Given the description of an element on the screen output the (x, y) to click on. 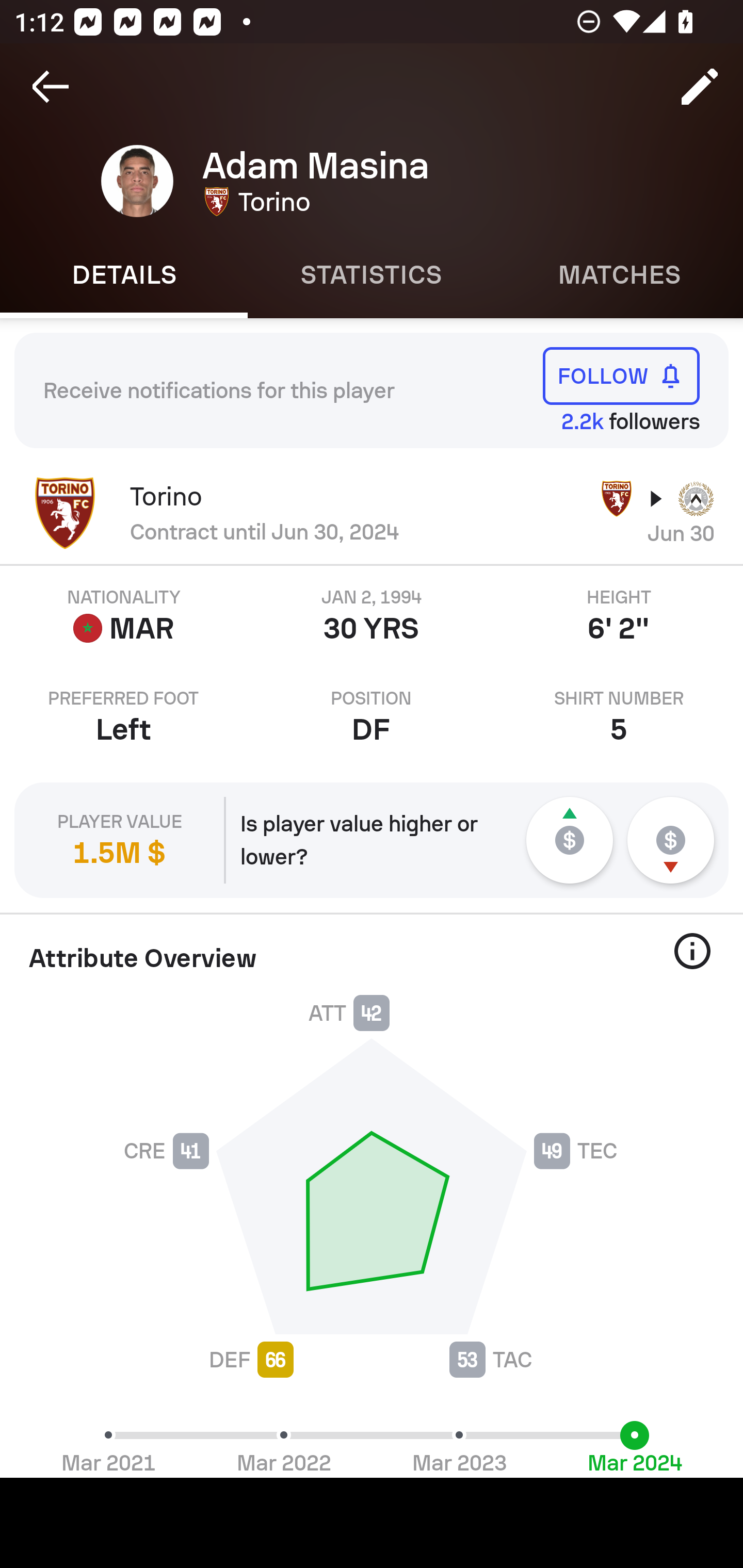
Navigate up (50, 86)
Edit (699, 86)
Statistics STATISTICS (371, 275)
Matches MATCHES (619, 275)
FOLLOW (621, 375)
Torino Contract until Jun 30, 2024 Jun 30 (371, 513)
NATIONALITY MAR (123, 616)
POSITION DF (371, 717)
